Given the description of an element on the screen output the (x, y) to click on. 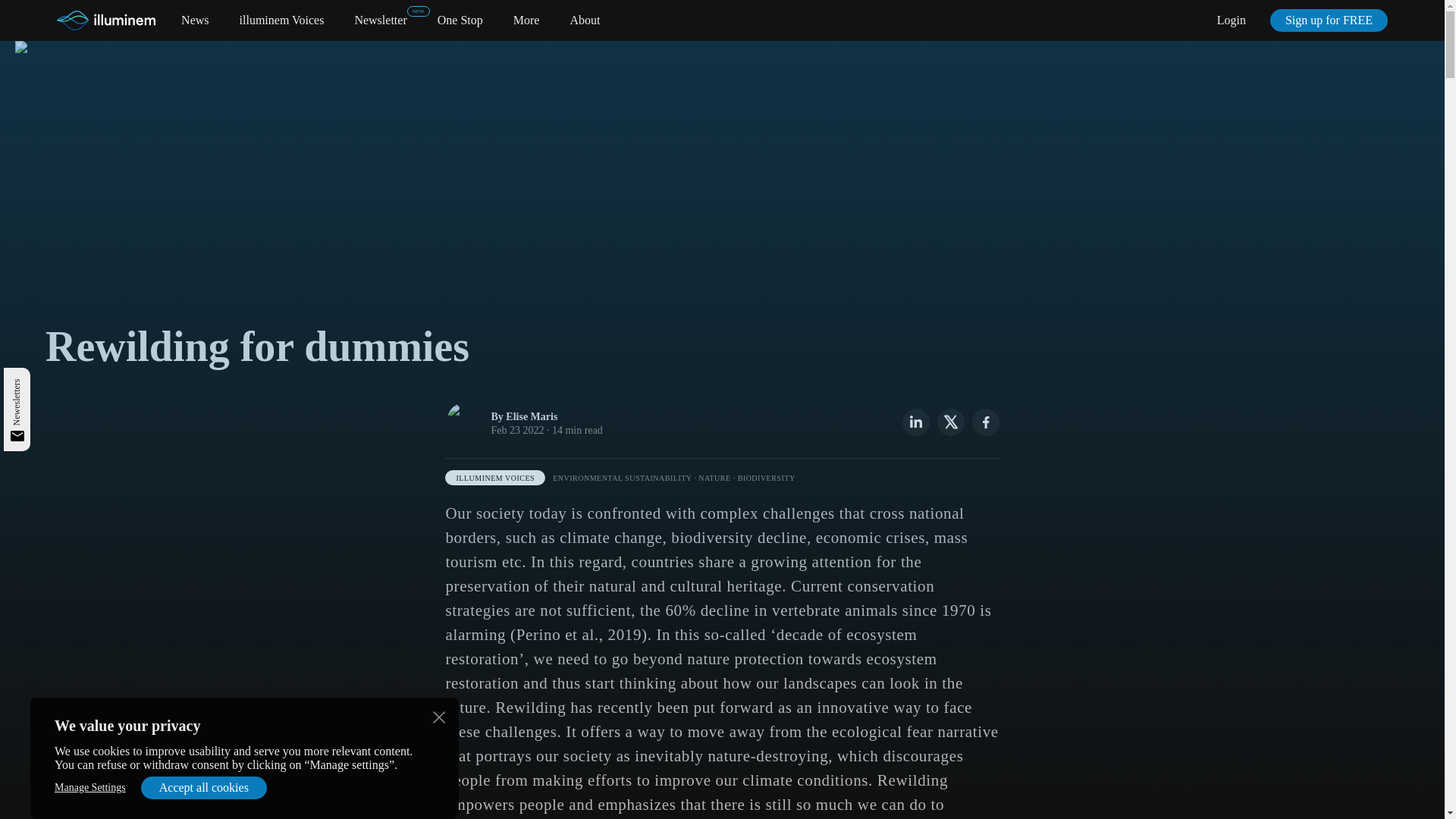
illuminem Voices (282, 19)
Newesletters (34, 383)
Elise Maris (531, 416)
BIODIVERSITY (766, 477)
NATURE (714, 477)
Login (1231, 20)
ENVIRONMENTAL SUSTAINABILITY (622, 477)
Newsletter (379, 19)
One Stop (460, 19)
Sign up for FREE (1328, 20)
